Given the description of an element on the screen output the (x, y) to click on. 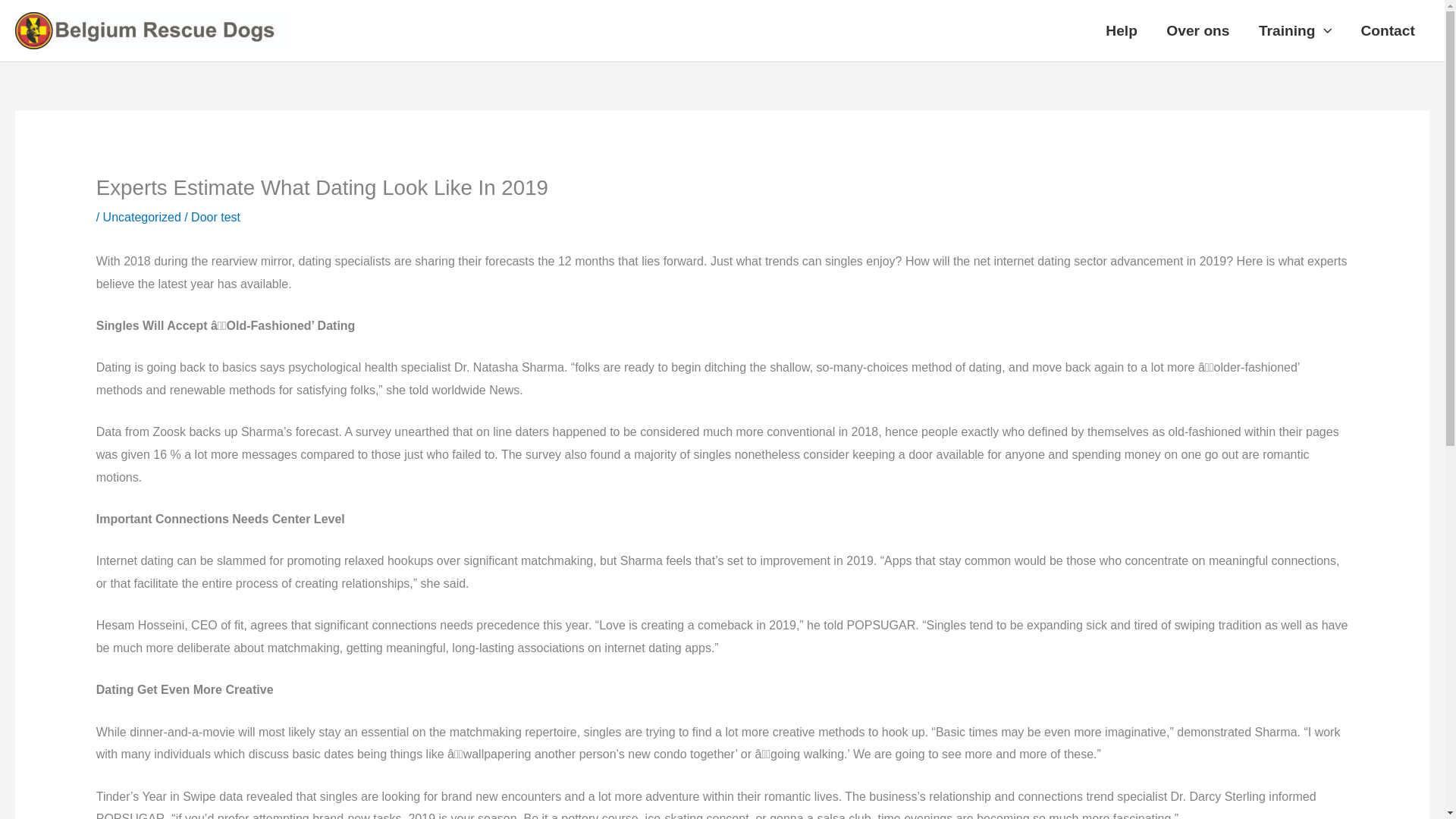
Contact (1387, 30)
Bekijk alle berichten van test (230, 216)
Help (1120, 30)
Uncategorized (141, 216)
Training (1295, 30)
Over ons (1197, 30)
test (230, 216)
